Given the description of an element on the screen output the (x, y) to click on. 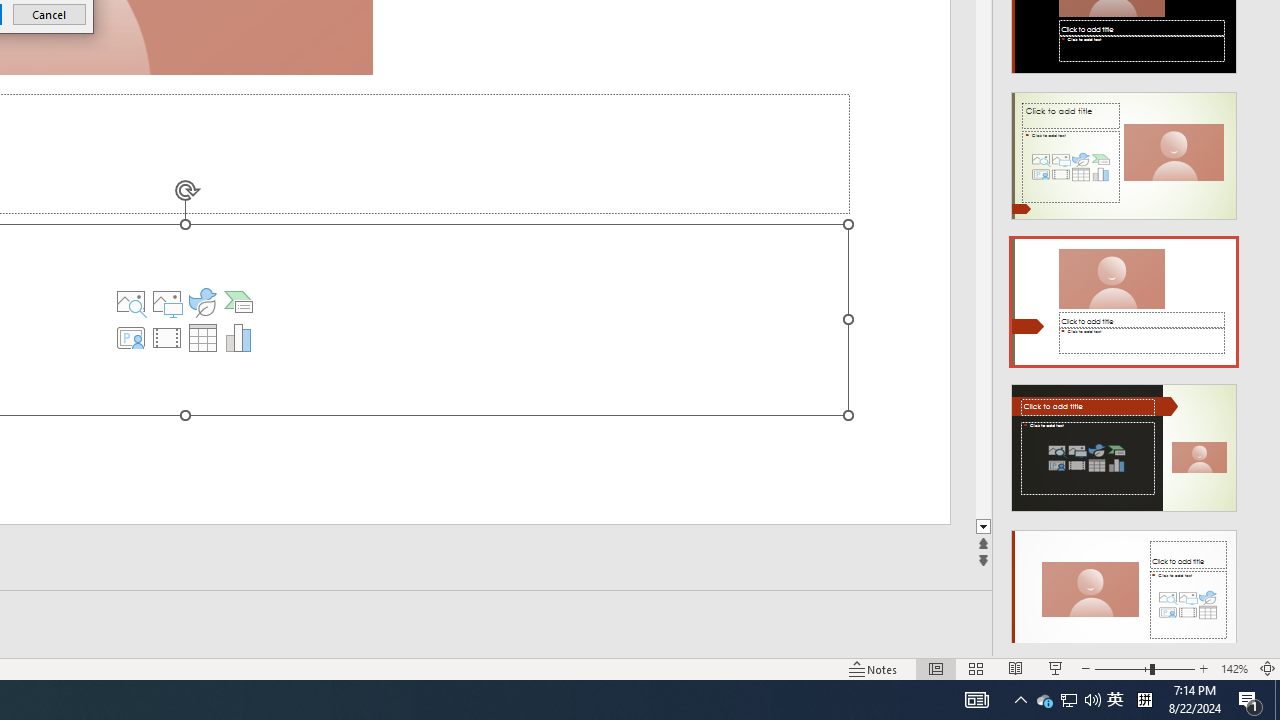
Zoom 142% (1234, 668)
